Given the description of an element on the screen output the (x, y) to click on. 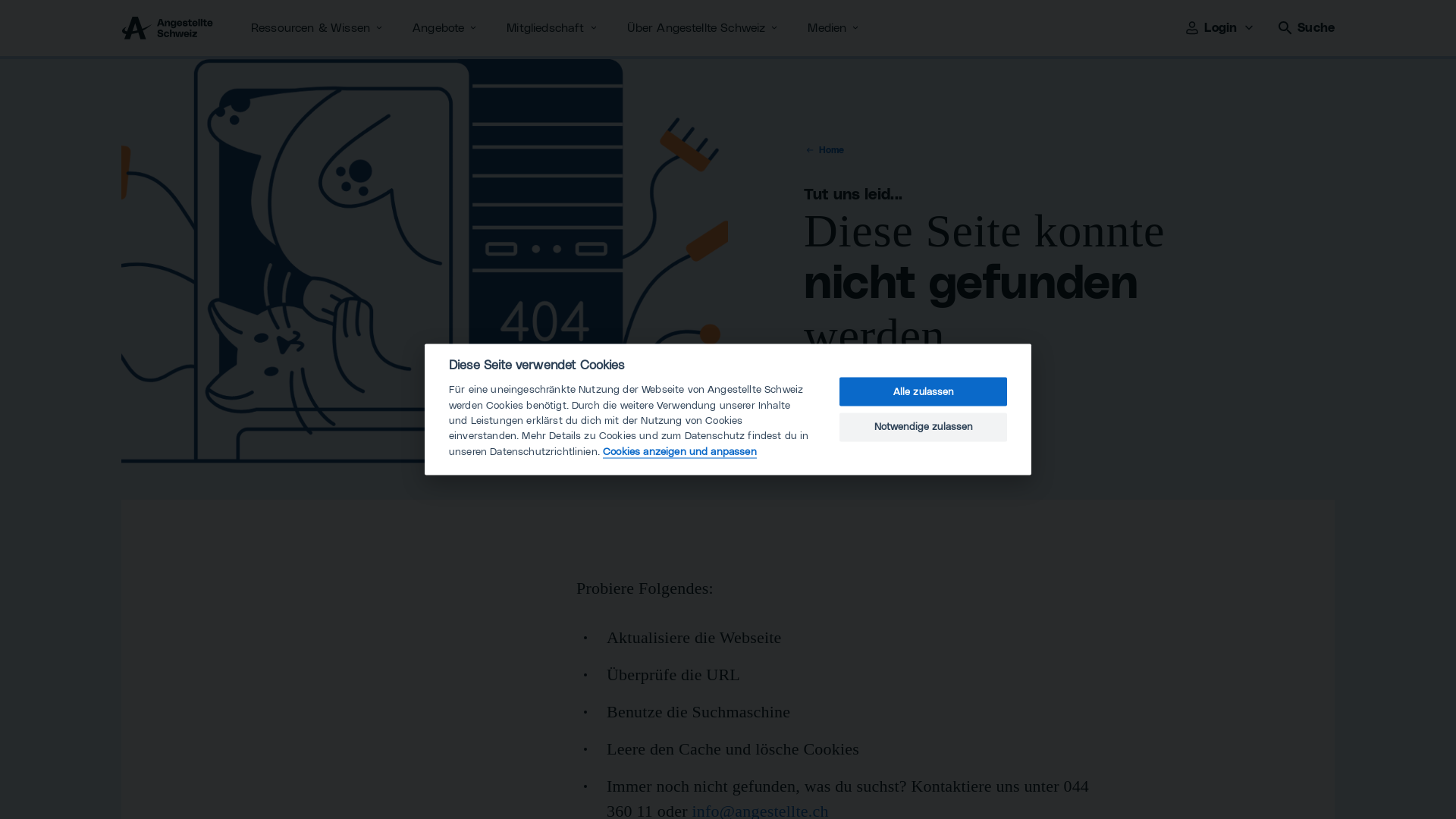
Medien Element type: text (834, 28)
Suche Element type: text (1305, 27)
Mitgliedschaft Element type: text (552, 28)
Ressourcen & Wissen Element type: text (317, 28)
Login Element type: text (1220, 27)
Notwendige zulassen Element type: text (923, 426)
Alle zulassen Element type: text (923, 391)
Angebote Element type: text (445, 28)
Home Element type: text (823, 149)
Cookies anzeigen und anpassen Element type: text (679, 451)
